Given the description of an element on the screen output the (x, y) to click on. 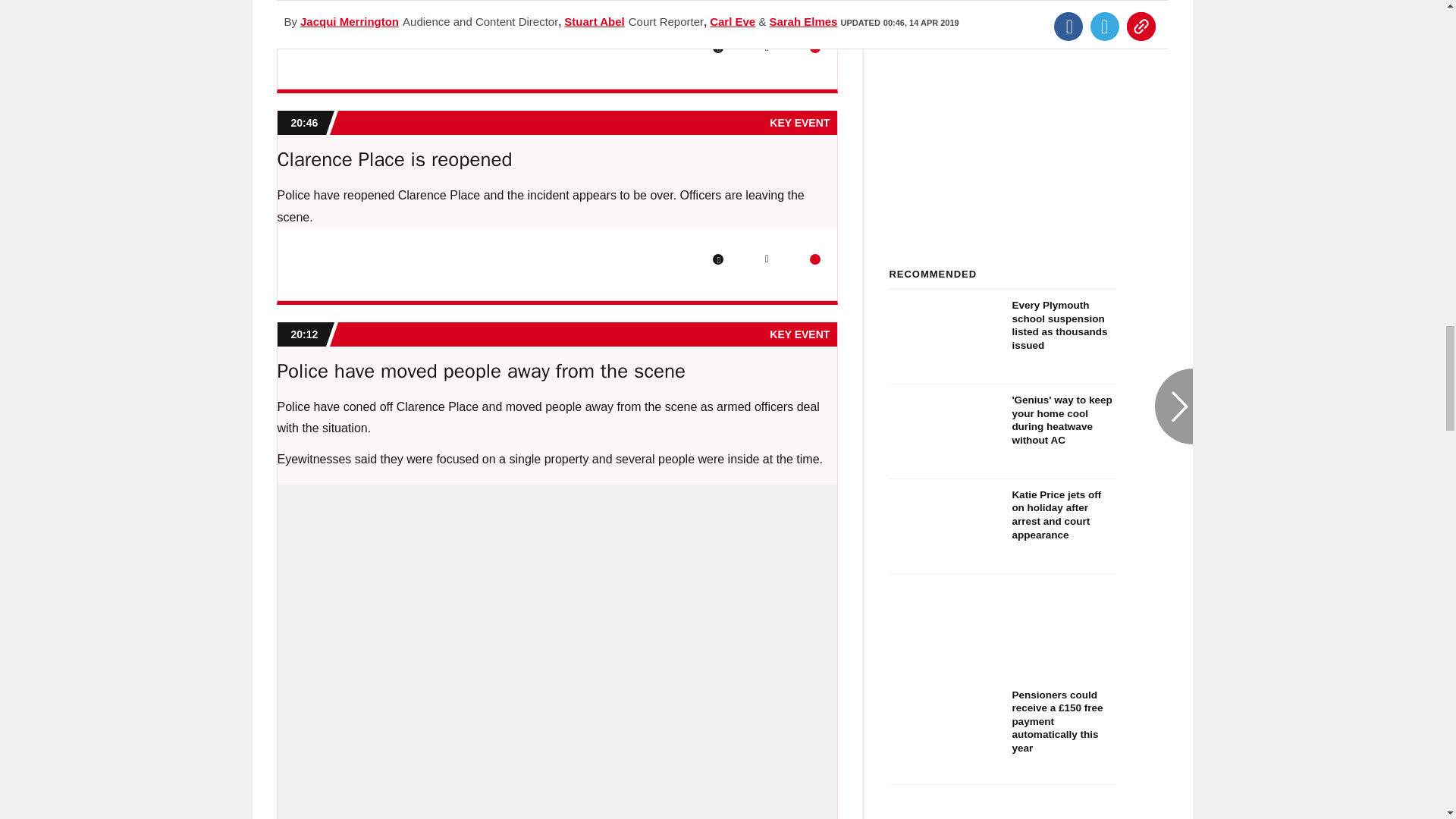
Facebook (718, 47)
Facebook (718, 258)
Twitter (766, 47)
Twitter (766, 258)
